Given the description of an element on the screen output the (x, y) to click on. 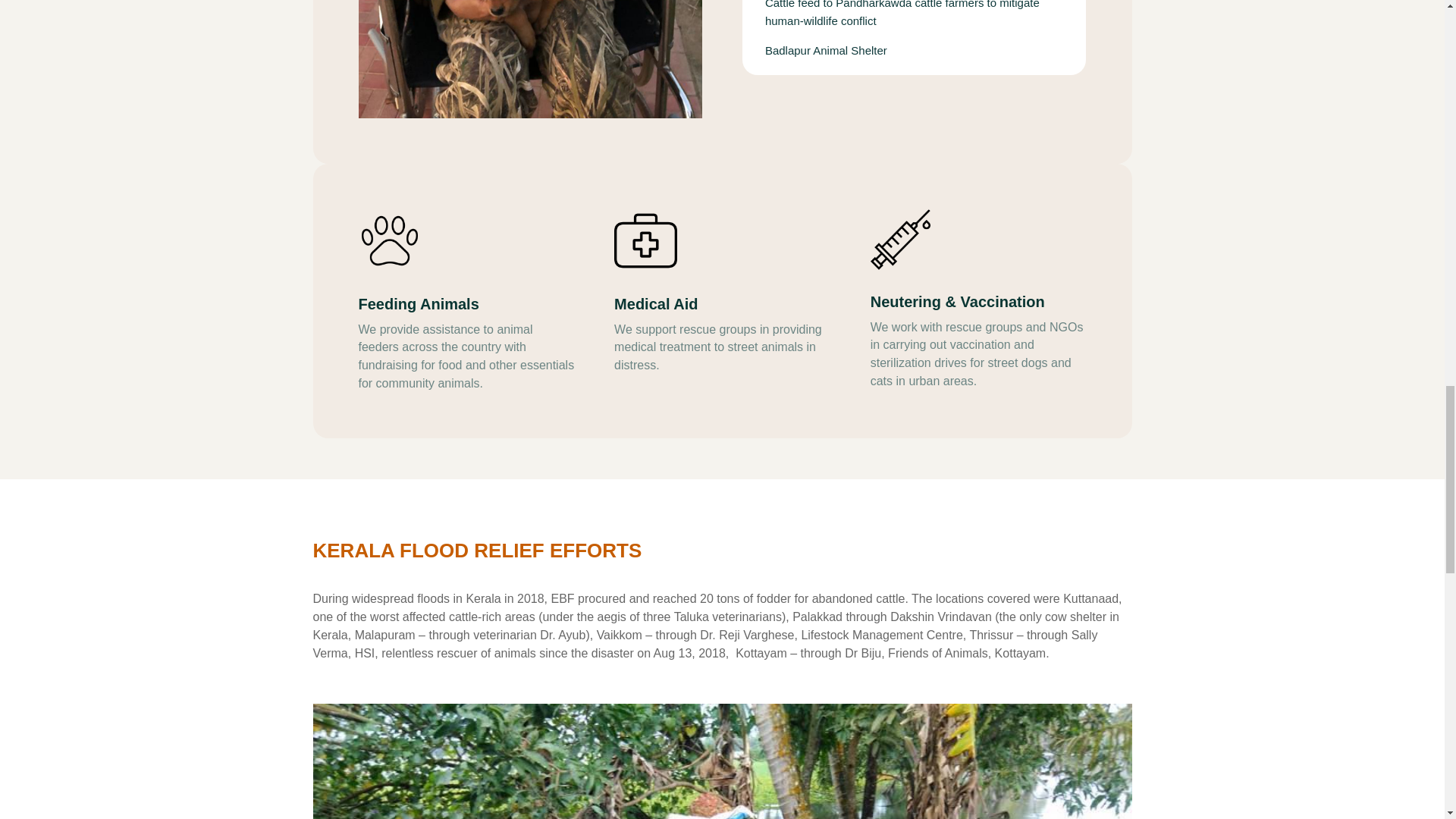
animals slide 3 (529, 58)
